Given the description of an element on the screen output the (x, y) to click on. 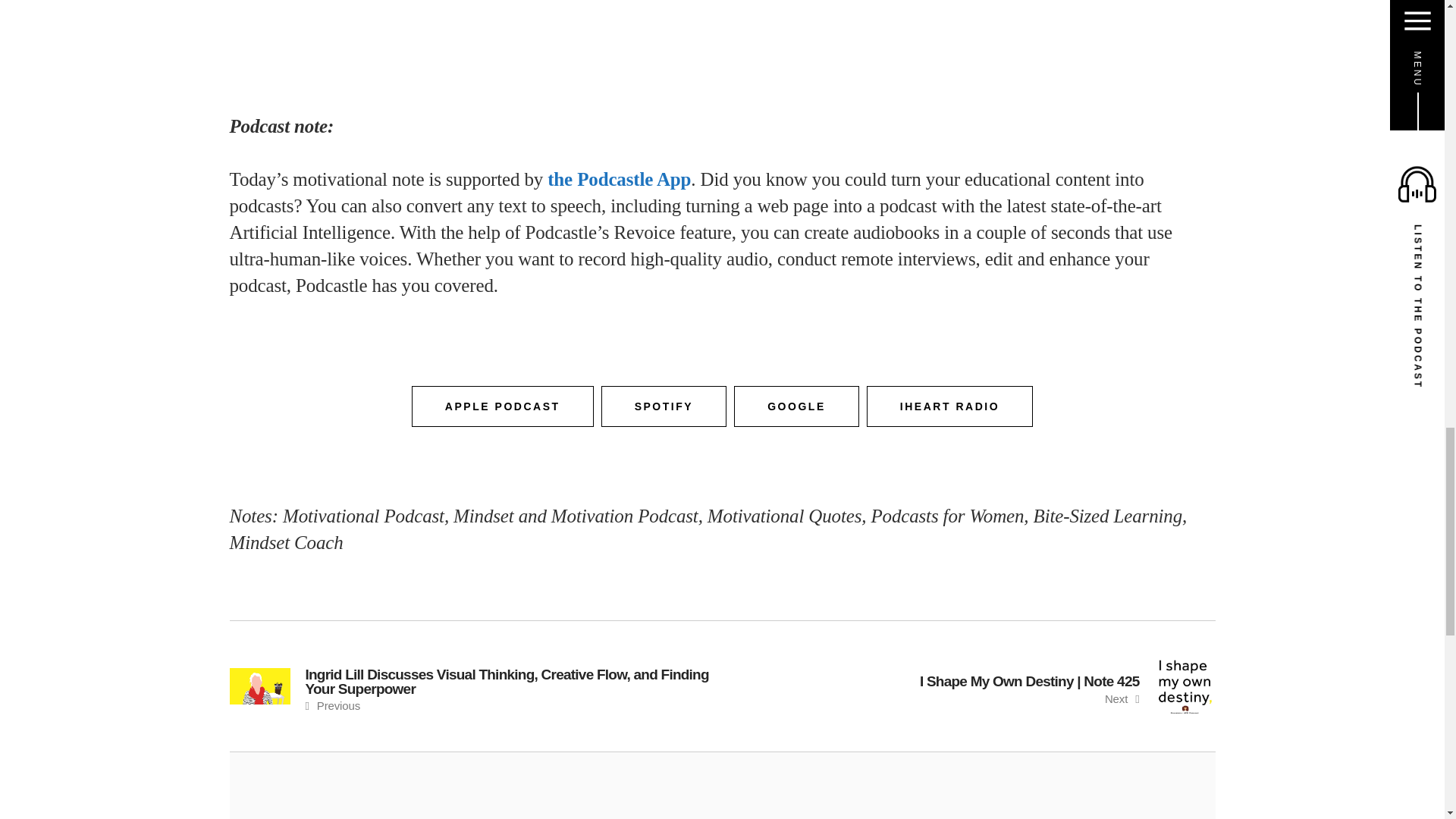
IHEART RADIO (949, 405)
SPOTIFY (663, 405)
APPLE PODCAST (503, 405)
GOOGLE (796, 405)
the Podcastle App (618, 178)
